Given the description of an element on the screen output the (x, y) to click on. 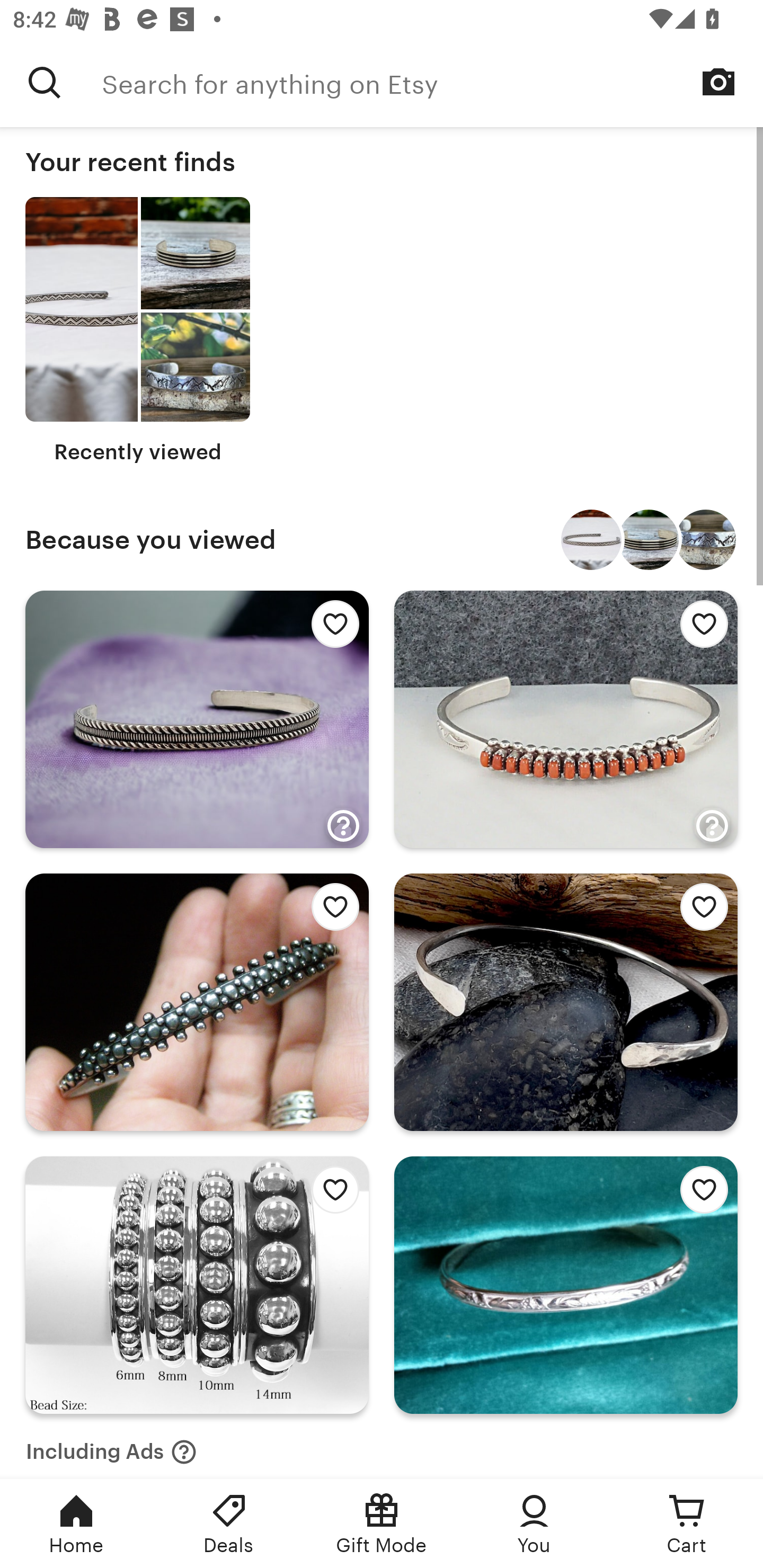
Search for anything on Etsy (44, 82)
Search by image (718, 81)
Search for anything on Etsy (432, 82)
Recently viewed (137, 330)
Sterling Silver Cuff Bracelet - Handmade (648, 539)
Add Sterling Silver Cuff Bracelet to favorites (699, 1194)
Including Ads (111, 1446)
Deals (228, 1523)
Gift Mode (381, 1523)
You (533, 1523)
Cart (686, 1523)
